Given the description of an element on the screen output the (x, y) to click on. 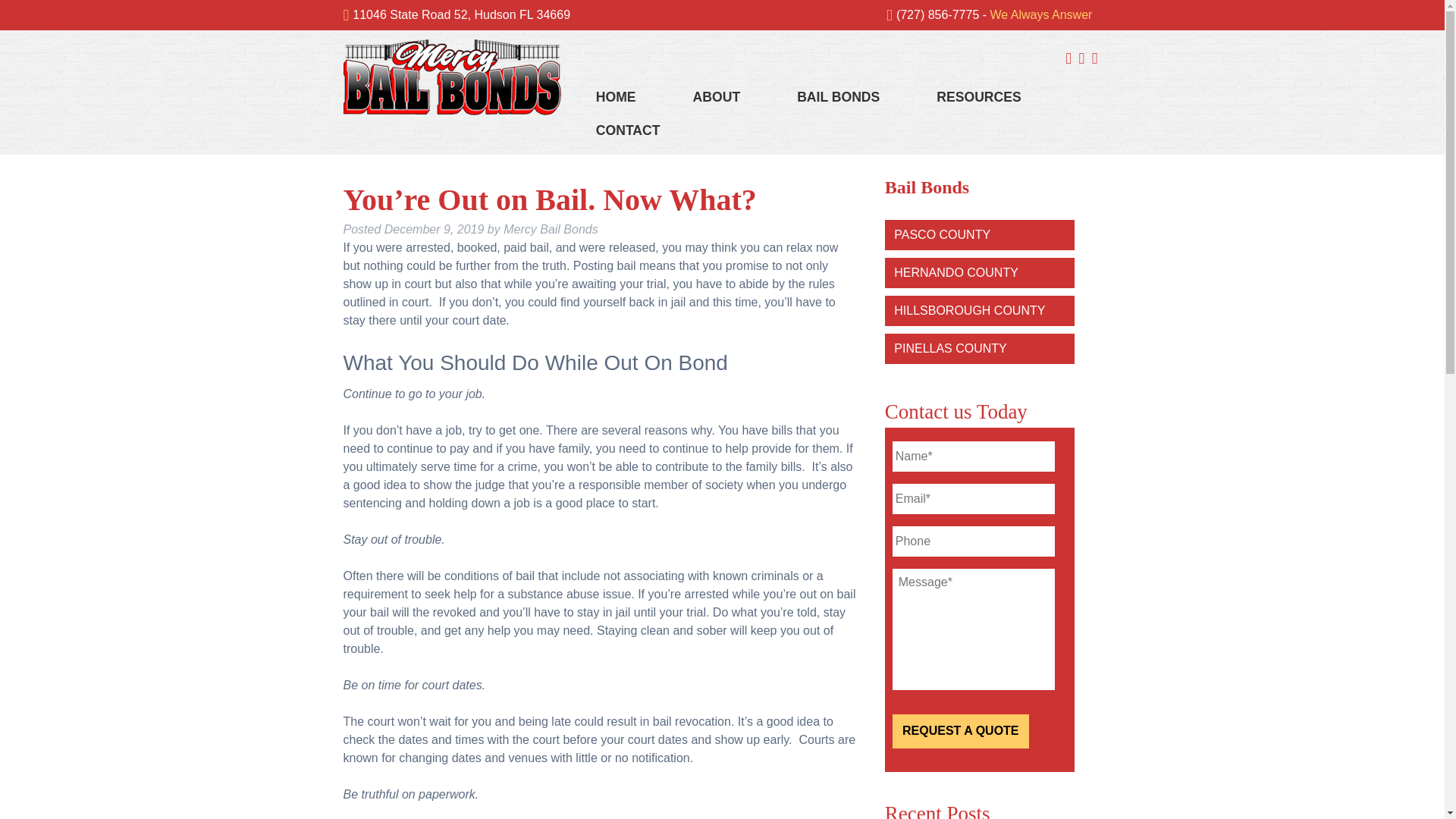
REQUEST A QUOTE (960, 731)
PINELLAS COUNTY (949, 348)
RESOURCES (978, 94)
11046 State Road 52, Hudson FL 34669 (461, 14)
HERNANDO COUNTY (955, 272)
HOME (615, 93)
PASCO COUNTY (941, 234)
BAIL BONDS (837, 94)
CONTACT (628, 127)
ABOUT (717, 93)
